Given the description of an element on the screen output the (x, y) to click on. 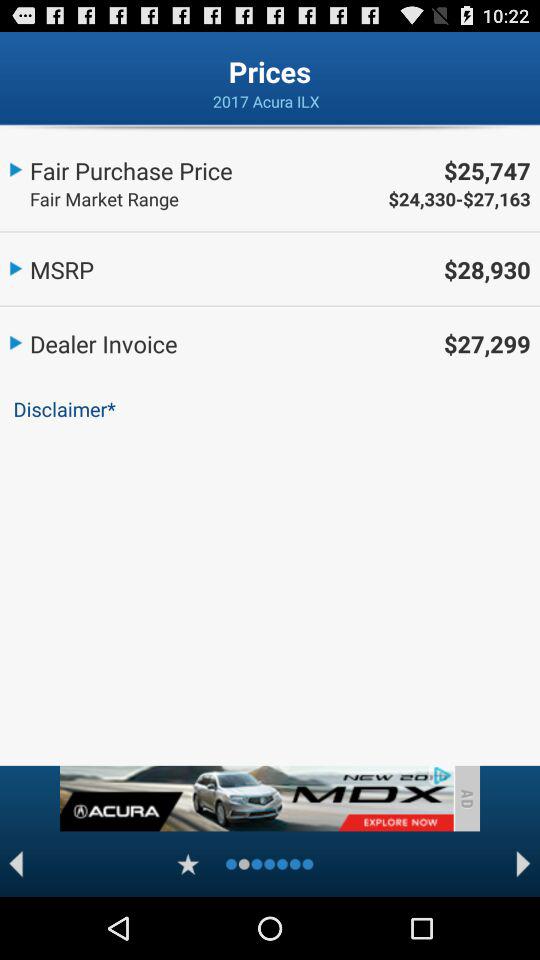
go to previous page (16, 864)
